Given the description of an element on the screen output the (x, y) to click on. 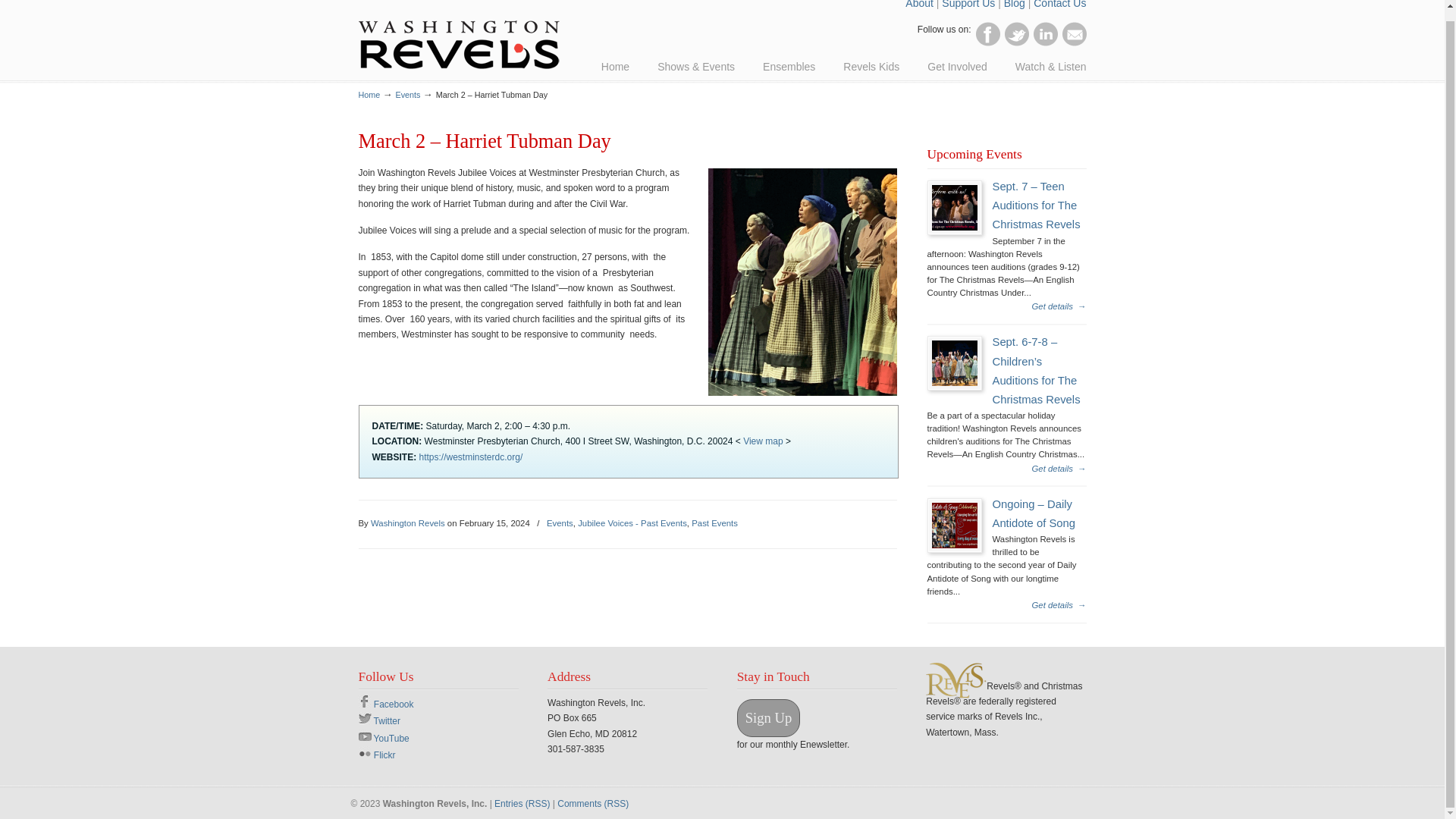
Ensembles (788, 66)
Washington Revels (458, 34)
Home (615, 66)
Contact Us (1059, 4)
Washington Revels (458, 34)
Twitter (1015, 33)
Facebook (986, 33)
Blog (1014, 4)
Home (369, 94)
Revels Kids (871, 66)
